Given the description of an element on the screen output the (x, y) to click on. 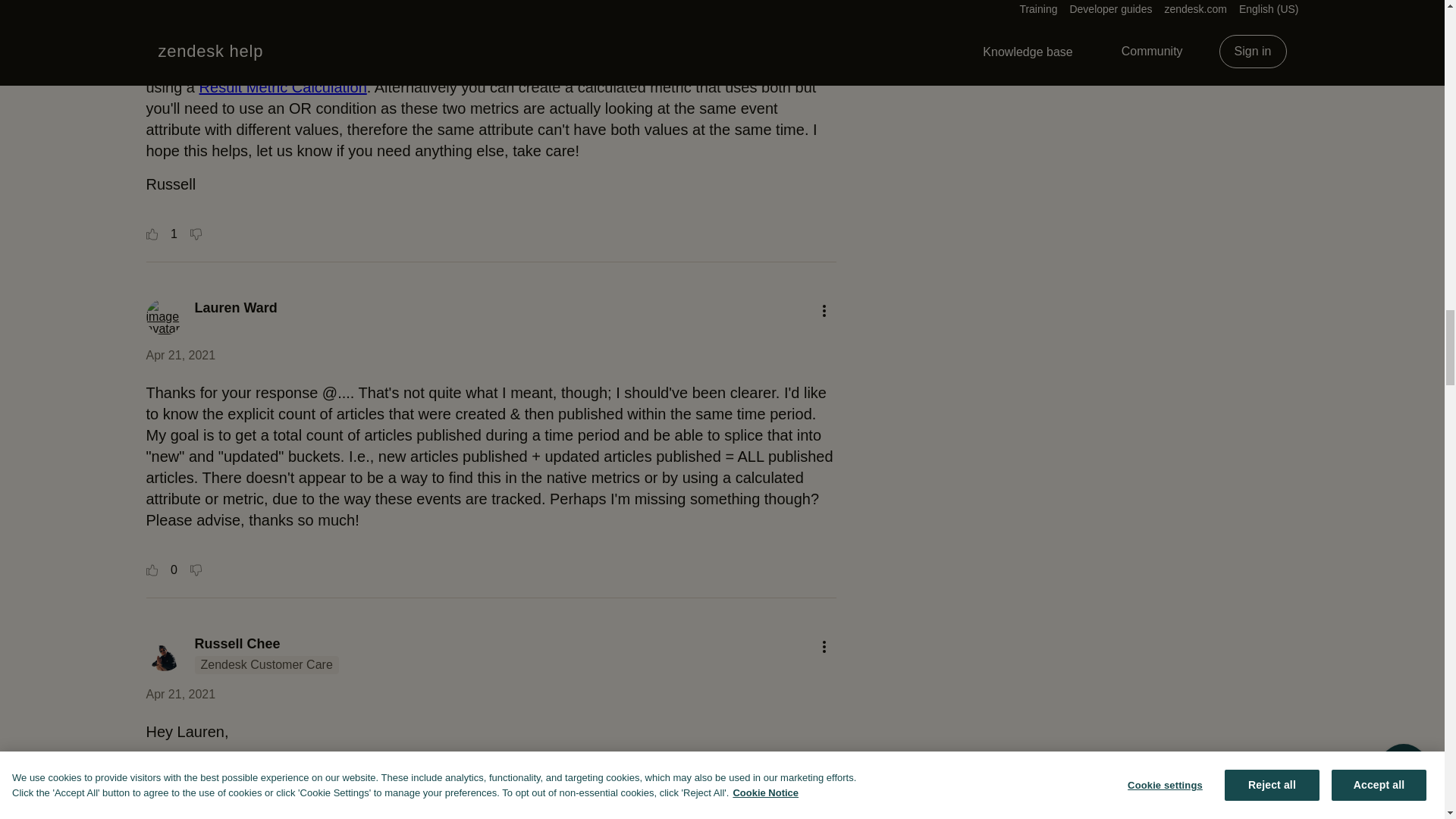
Apr 21, 2021 (180, 354)
Apr 21, 2021 (180, 694)
